Given the description of an element on the screen output the (x, y) to click on. 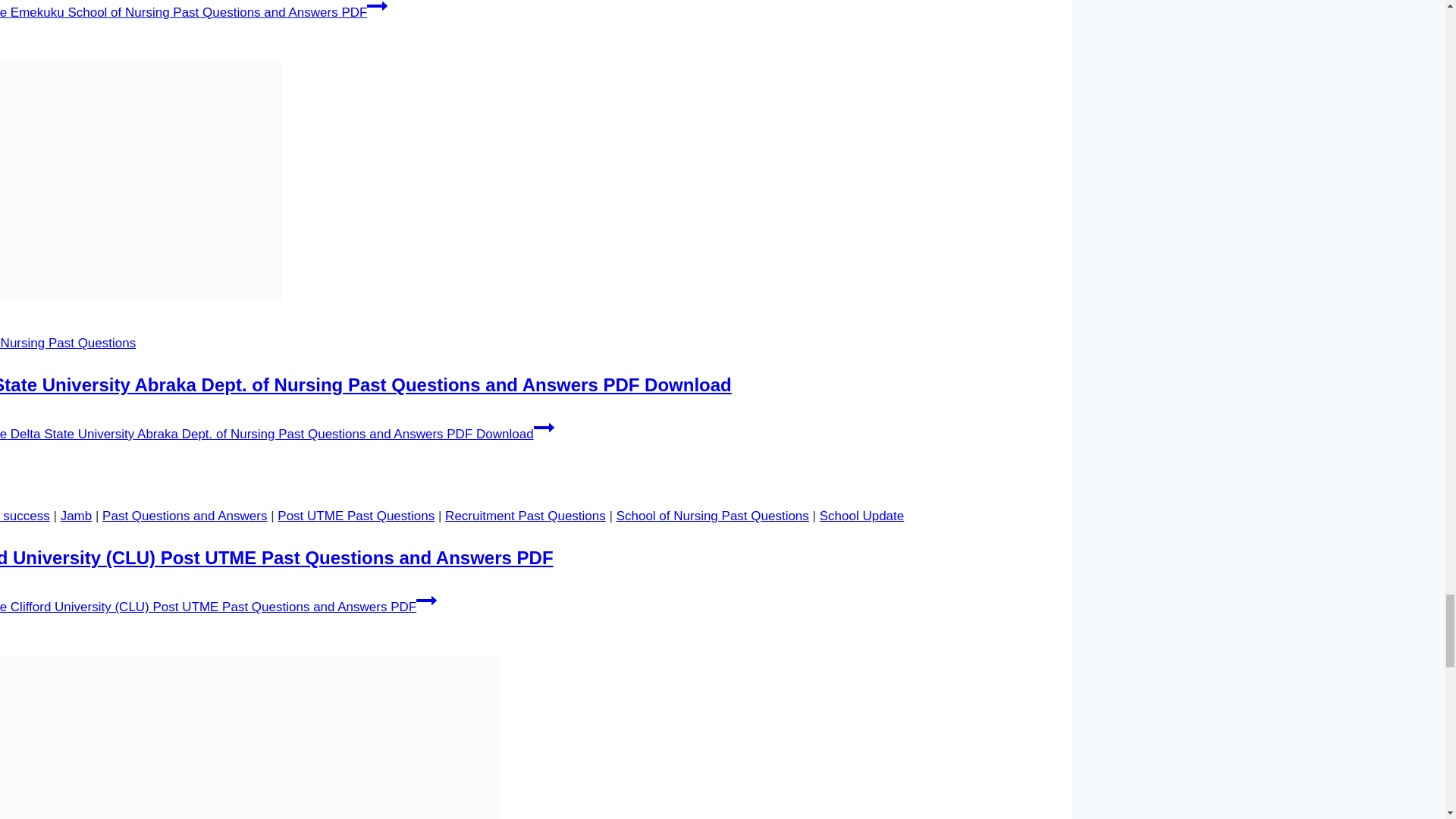
School of Nursing Past Questions (712, 515)
School of Nursing Past Questions (67, 342)
Continue (544, 427)
Academic success (24, 515)
Continue (426, 599)
Continue (376, 8)
